Given the description of an element on the screen output the (x, y) to click on. 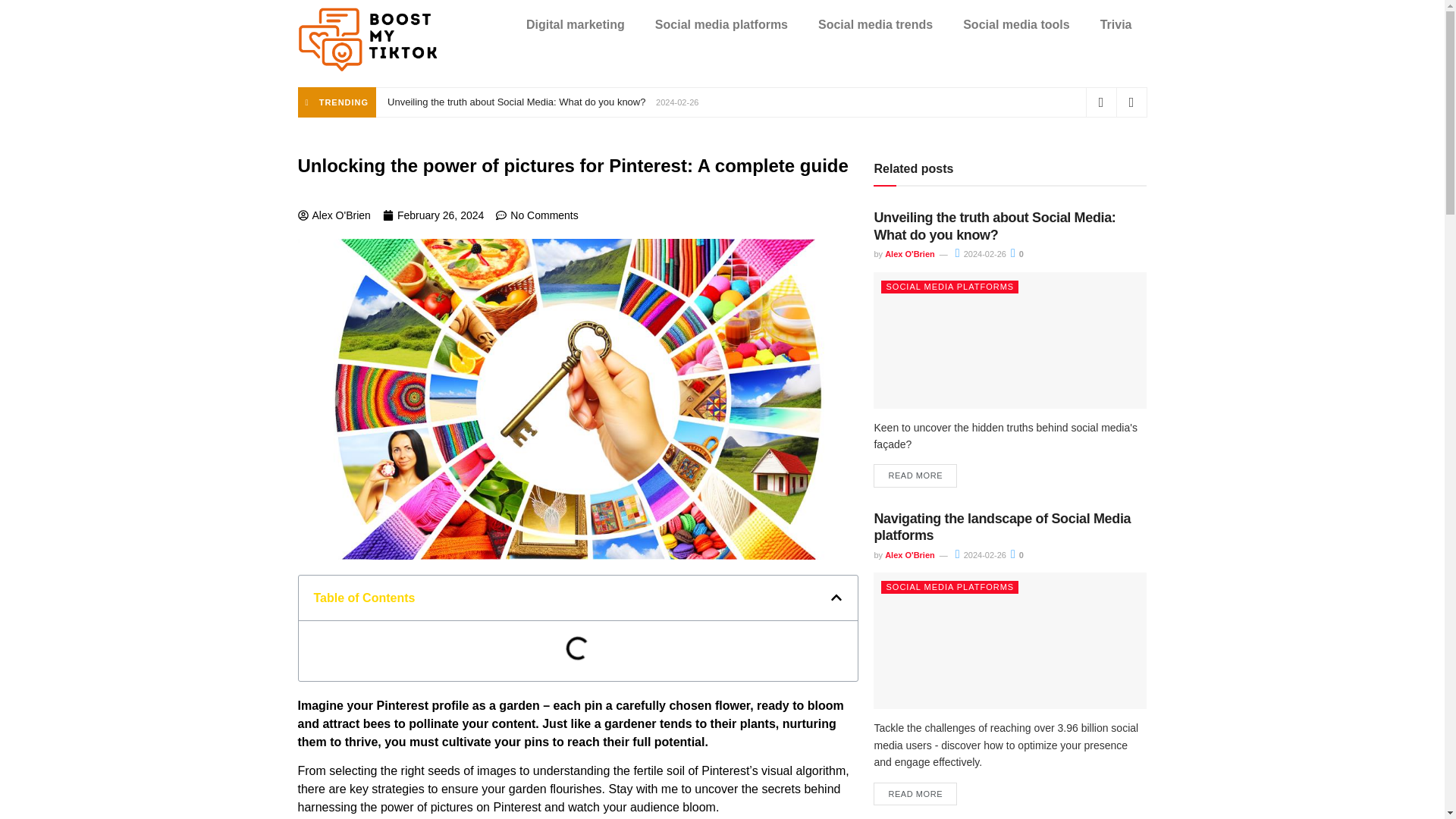
READ MORE (914, 793)
Social media platforms (721, 24)
Alex O'Brien (909, 253)
Alex O'Brien (909, 554)
Unveiling the truth about Social Media: What do you know? (516, 101)
Alex O'Brien (333, 215)
SOCIAL MEDIA PLATFORMS (948, 586)
2024-02-26 (980, 554)
Social media tools (1015, 24)
SOCIAL MEDIA PLATFORMS (948, 286)
